Given the description of an element on the screen output the (x, y) to click on. 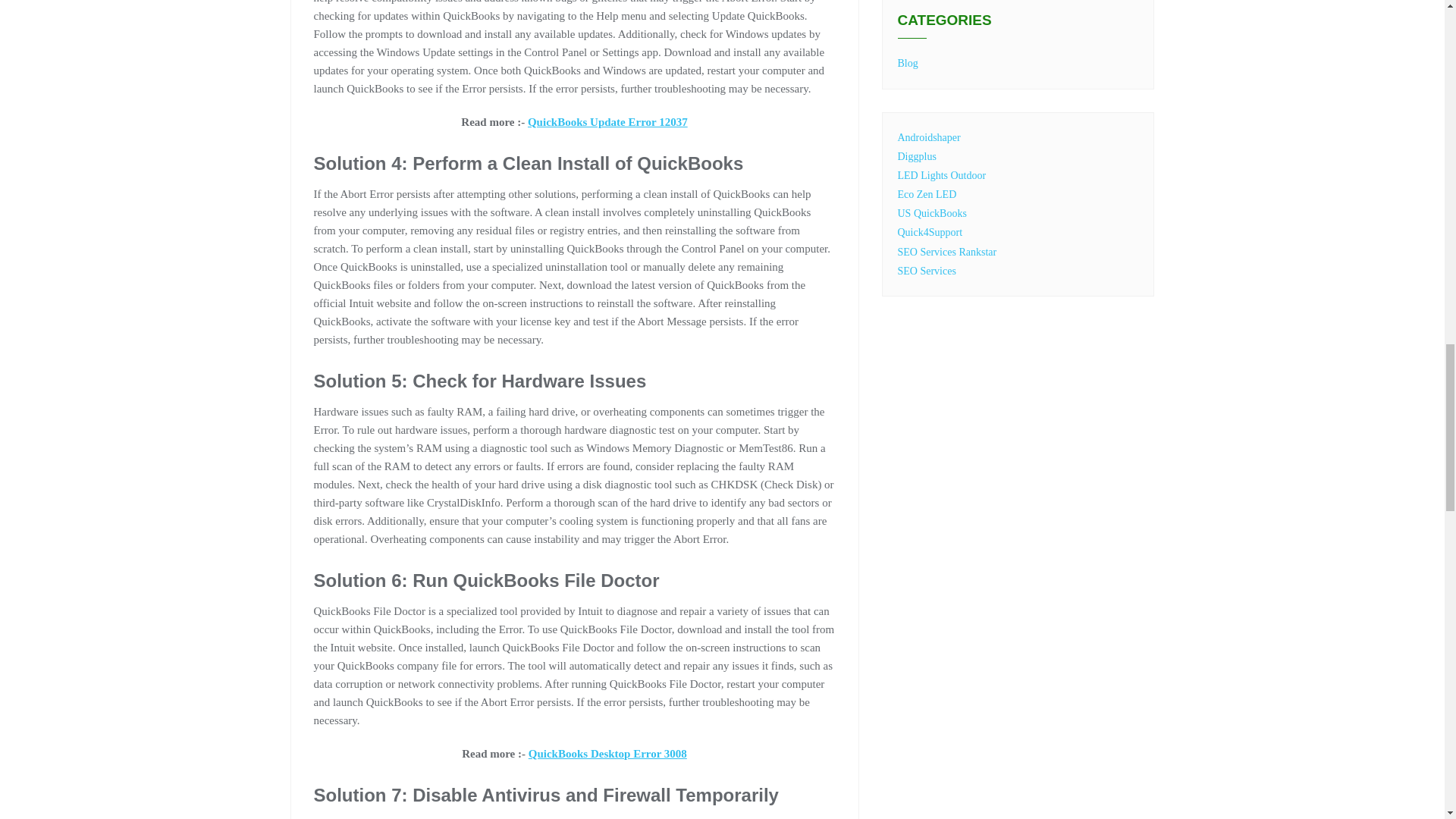
QuickBooks Update Error 12037 (607, 121)
QuickBooks Desktop Error 3008 (607, 753)
